Given the description of an element on the screen output the (x, y) to click on. 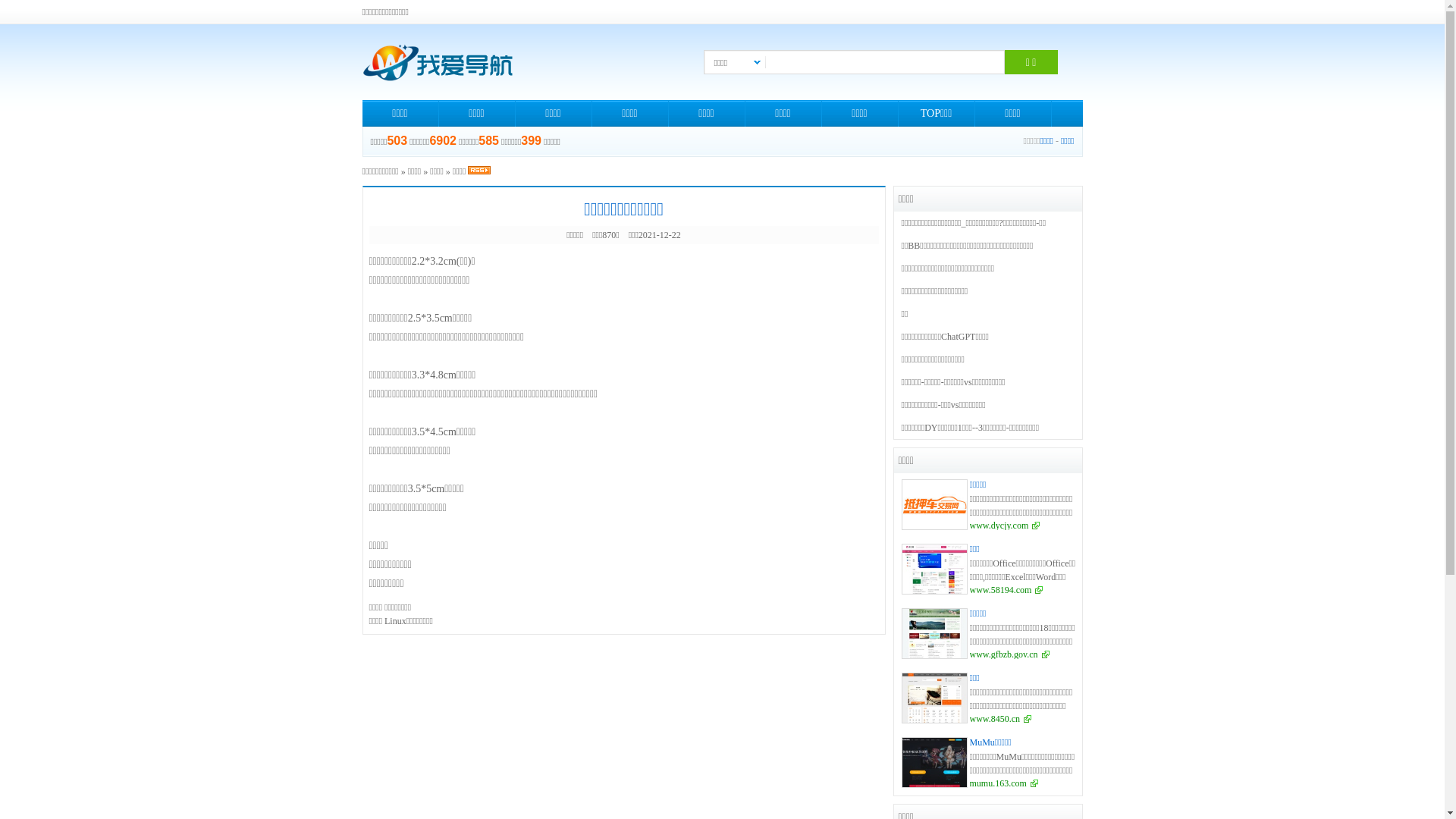
www.dycjy.com Element type: text (1004, 525)
www.8450.cn Element type: text (1000, 718)
www.gfbzb.gov.cn Element type: text (1008, 654)
www.58194.com Element type: text (1005, 589)
mumu.163.com Element type: text (1003, 783)
